Given the description of an element on the screen output the (x, y) to click on. 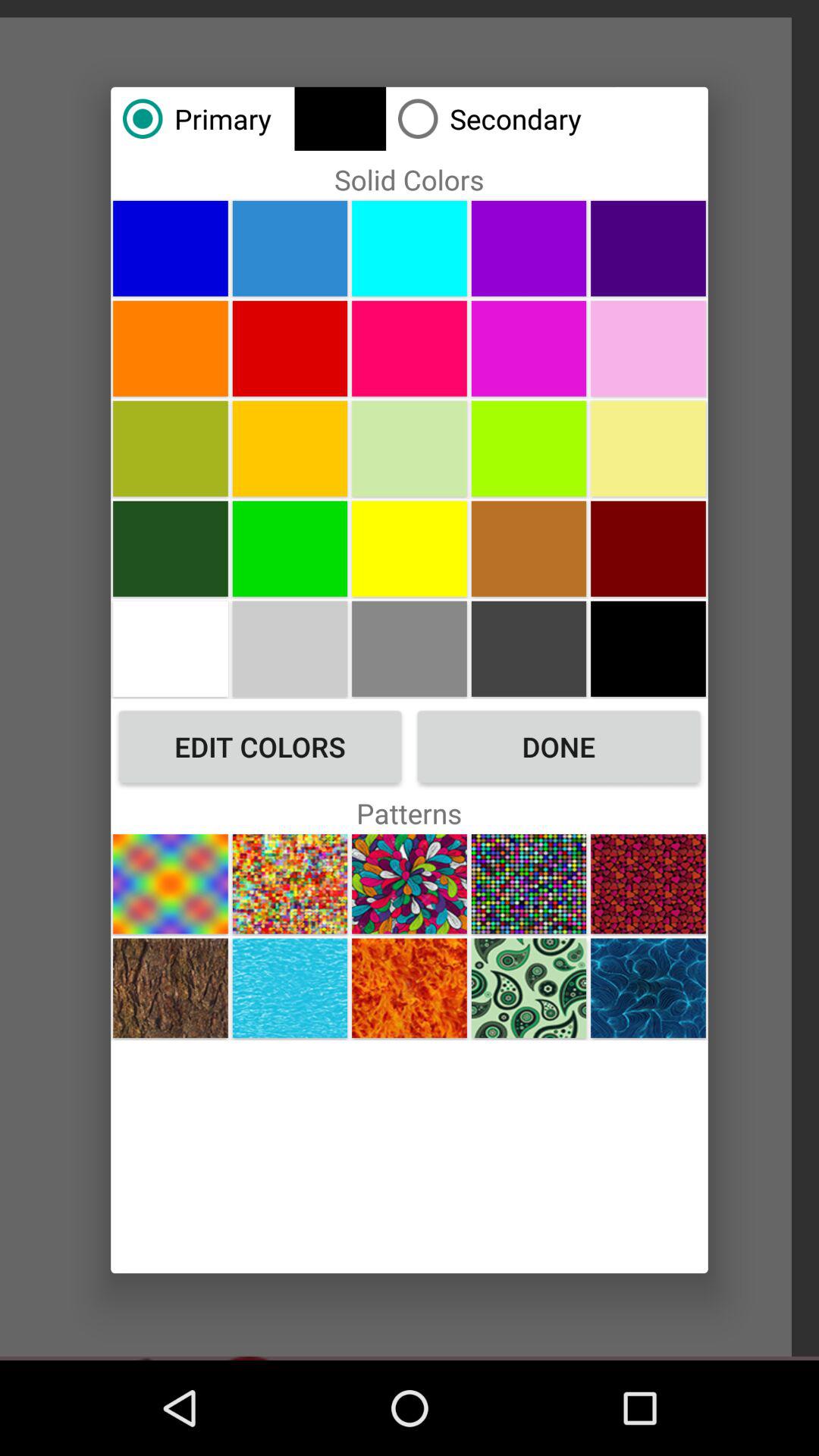
select this pattern (170, 987)
